Given the description of an element on the screen output the (x, y) to click on. 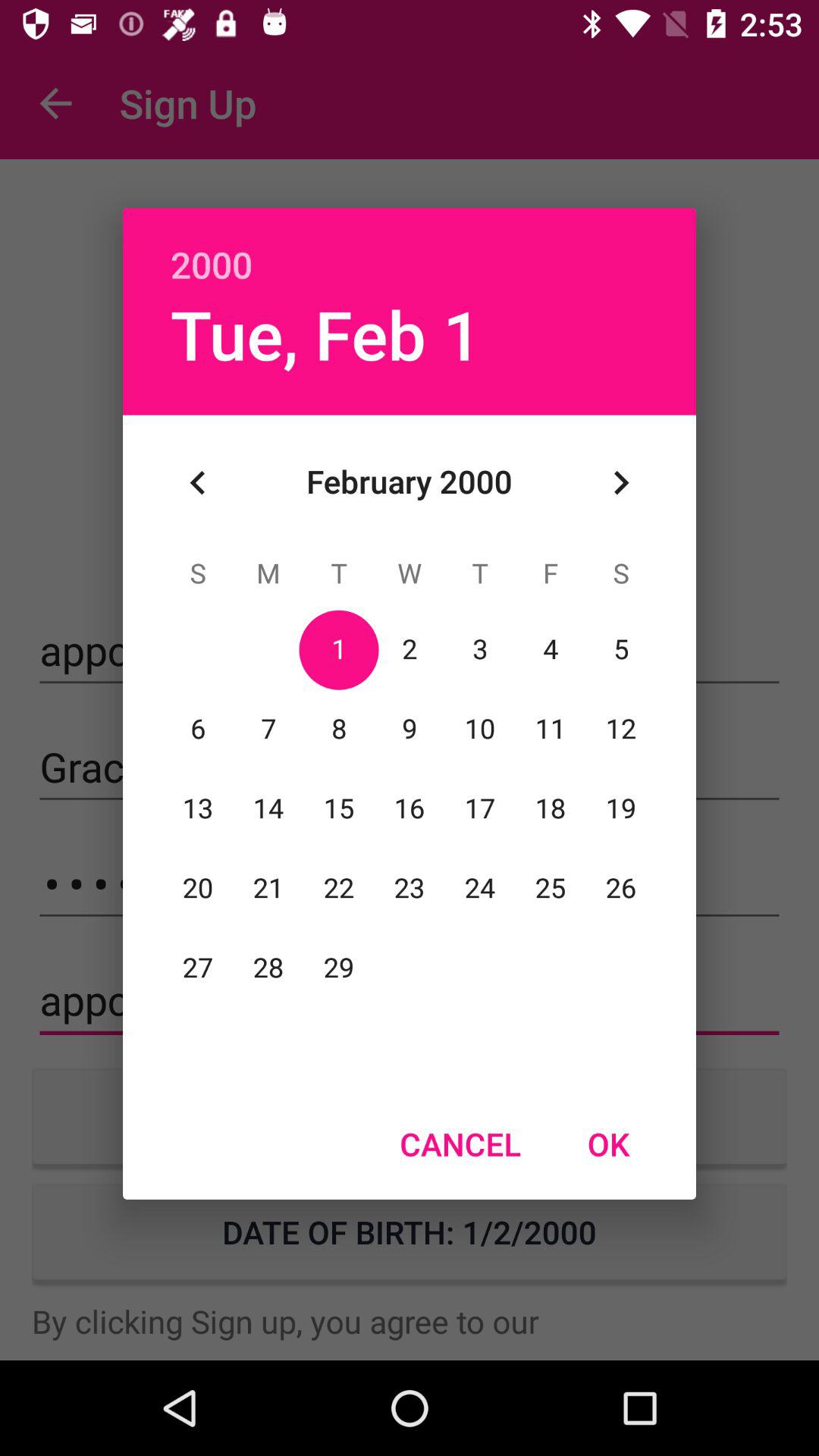
press the icon to the right of the cancel (608, 1143)
